Given the description of an element on the screen output the (x, y) to click on. 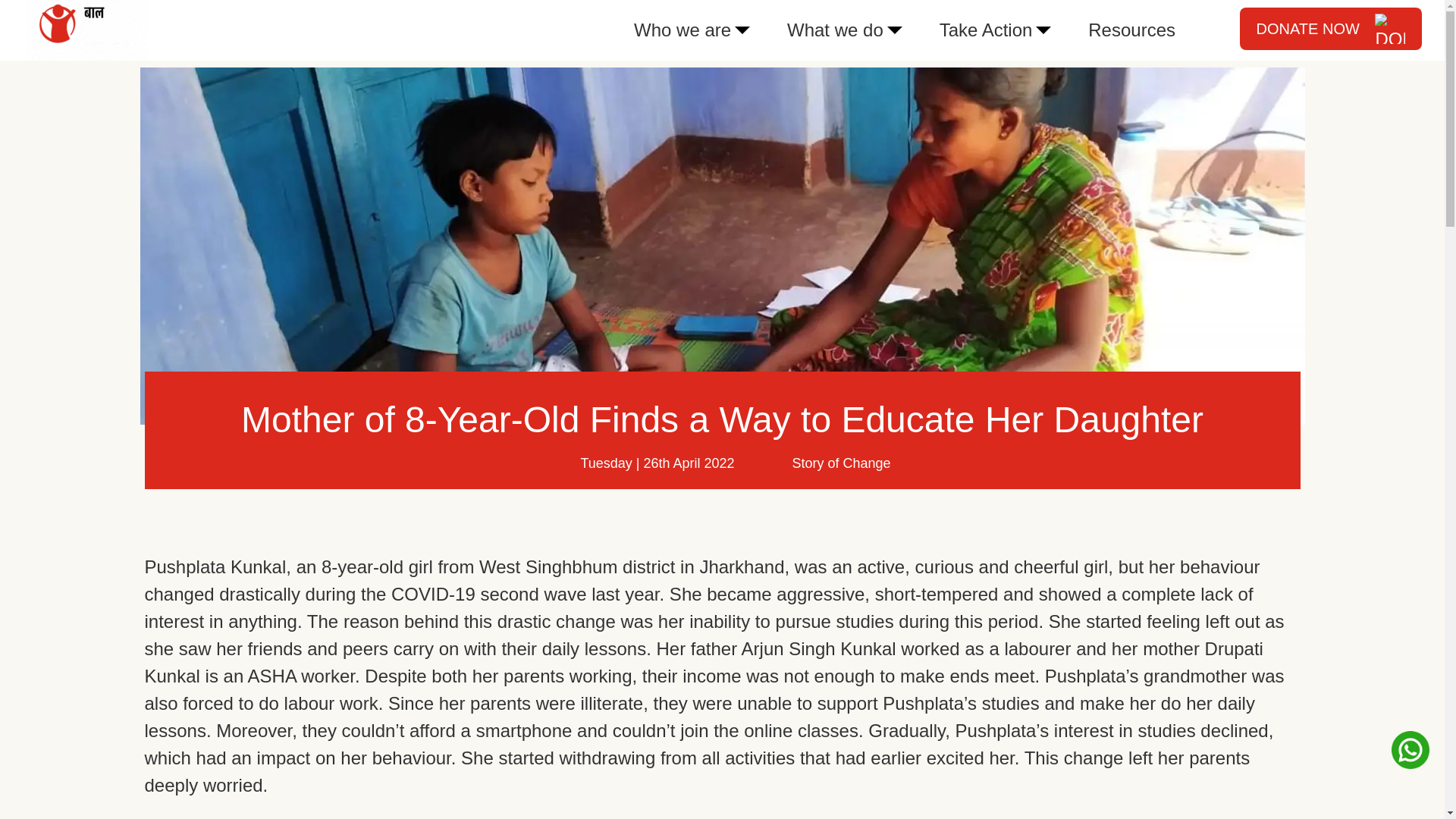
Take Action (985, 29)
DONATE NOW (1331, 28)
Search (113, 18)
What we do (835, 29)
Who we are (682, 29)
Resources (1131, 29)
